Given the description of an element on the screen output the (x, y) to click on. 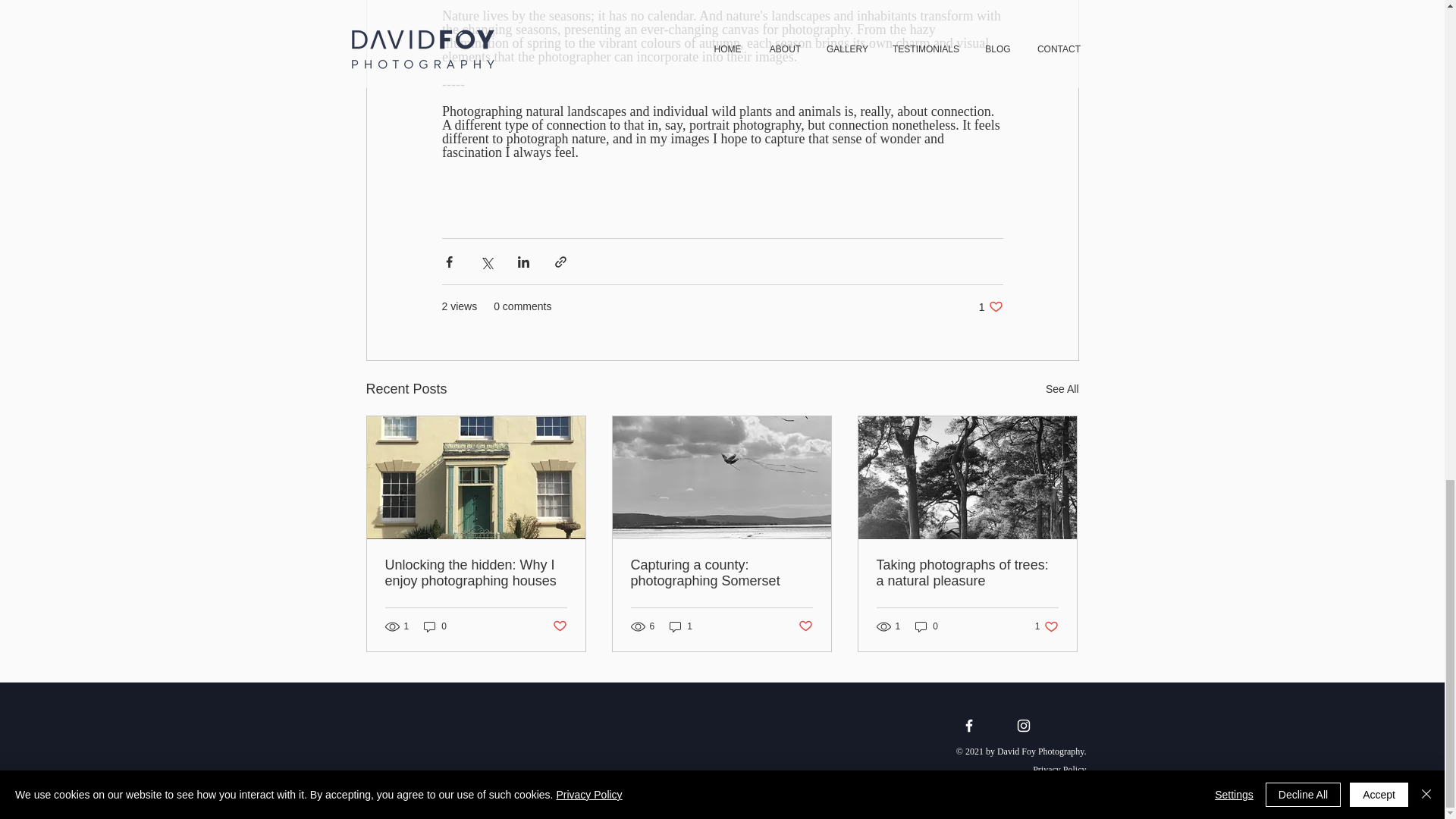
Post not marked as liked (804, 626)
Privacy Policy (1059, 769)
Post not marked as liked (558, 626)
Capturing a county: photographing Somerset (721, 572)
Unlocking the hidden: Why I enjoy photographing houses (476, 572)
0 (435, 626)
1 (681, 626)
Taking photographs of trees: a natural pleasure (967, 572)
0 (926, 626)
See All (1046, 626)
